Given the description of an element on the screen output the (x, y) to click on. 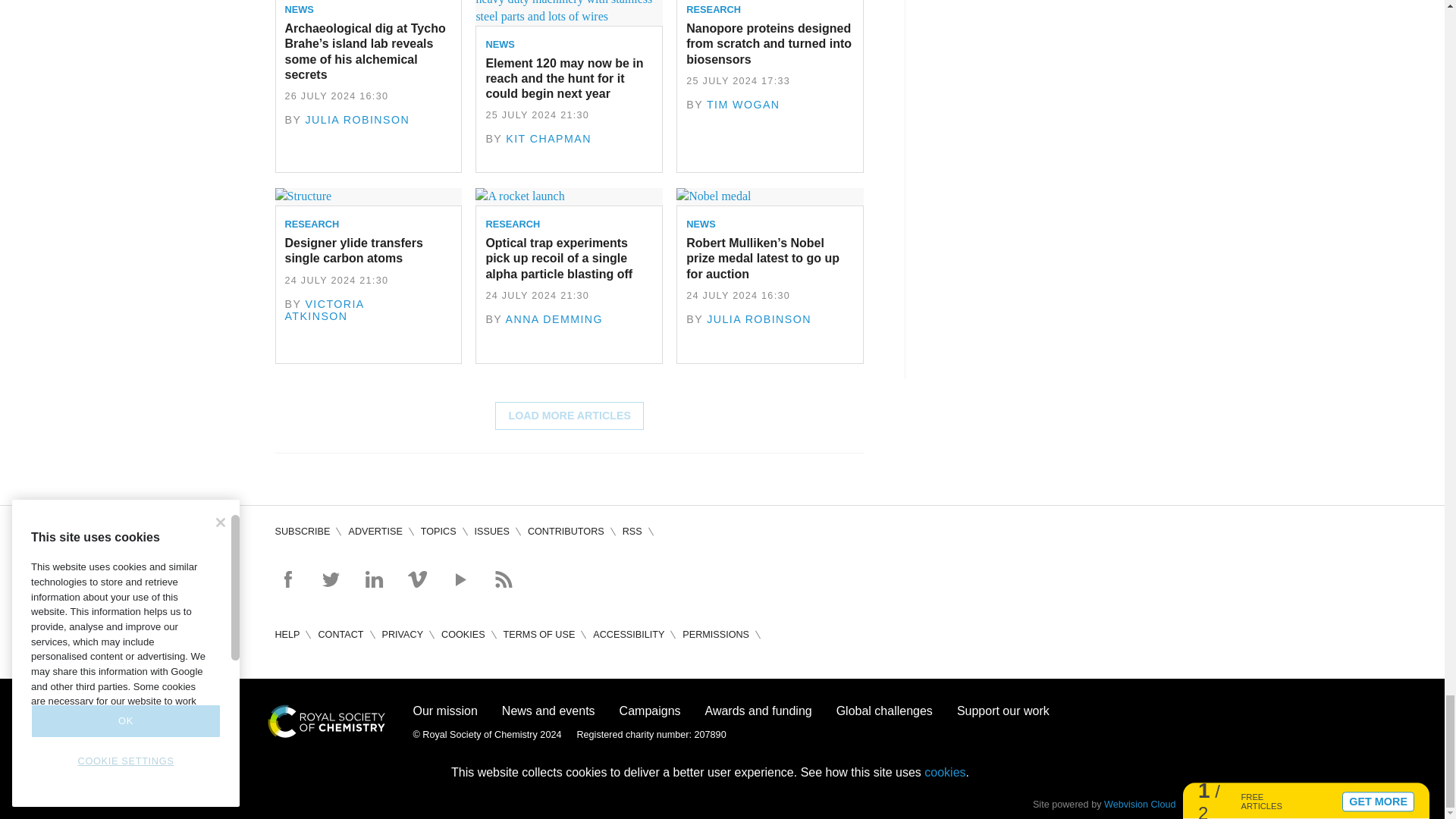
Follow on Facebook (287, 579)
Follow on Twitter (330, 579)
